Given the description of an element on the screen output the (x, y) to click on. 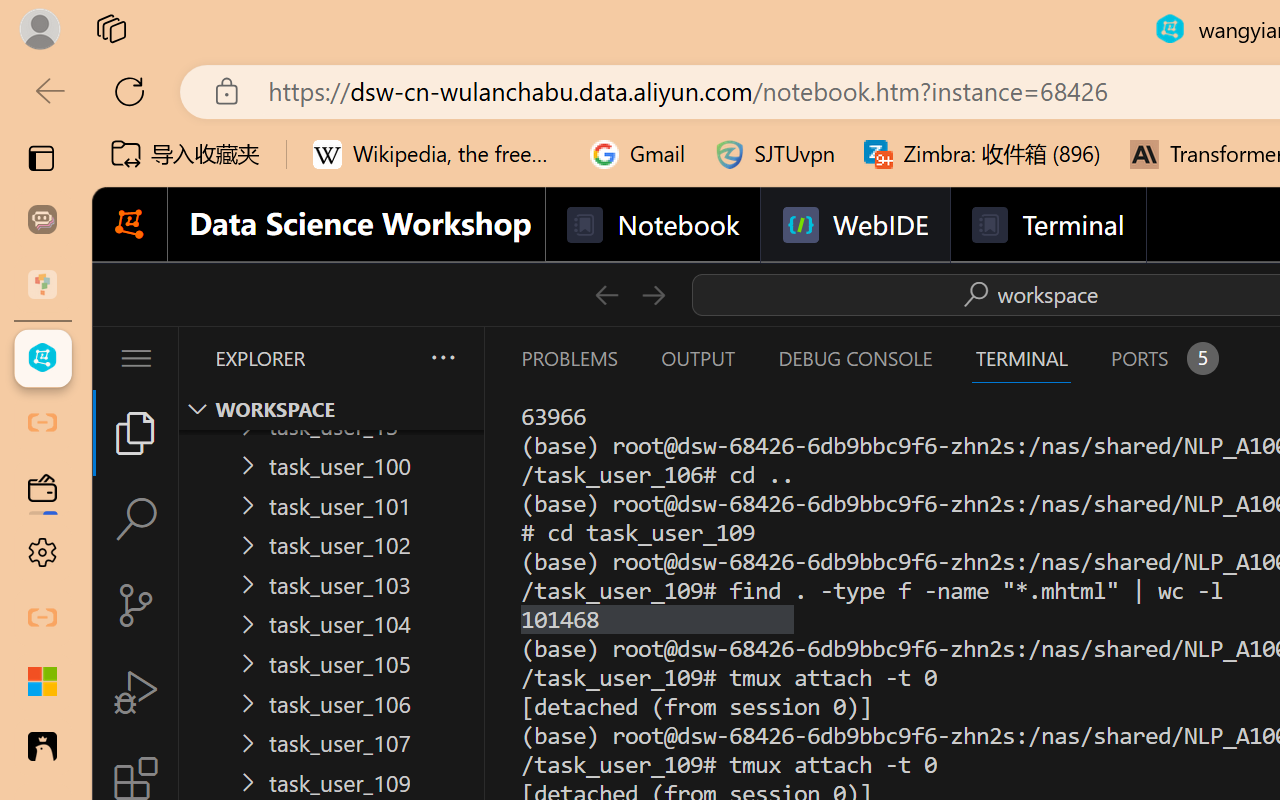
Wikipedia, the free encyclopedia (437, 154)
wangyian_dsw - DSW (42, 357)
Run and Debug (Ctrl+Shift+D) (135, 692)
Search (Ctrl+Shift+F) (135, 519)
Explorer Section: workspace (331, 409)
Class: actions-container (1027, 294)
Problems (Ctrl+Shift+M) (567, 358)
Explorer (Ctrl+Shift+E) (135, 432)
Terminal (Ctrl+`) (1021, 358)
Go Forward (Alt+RightArrow) (652, 294)
SJTUvpn (774, 154)
